Given the description of an element on the screen output the (x, y) to click on. 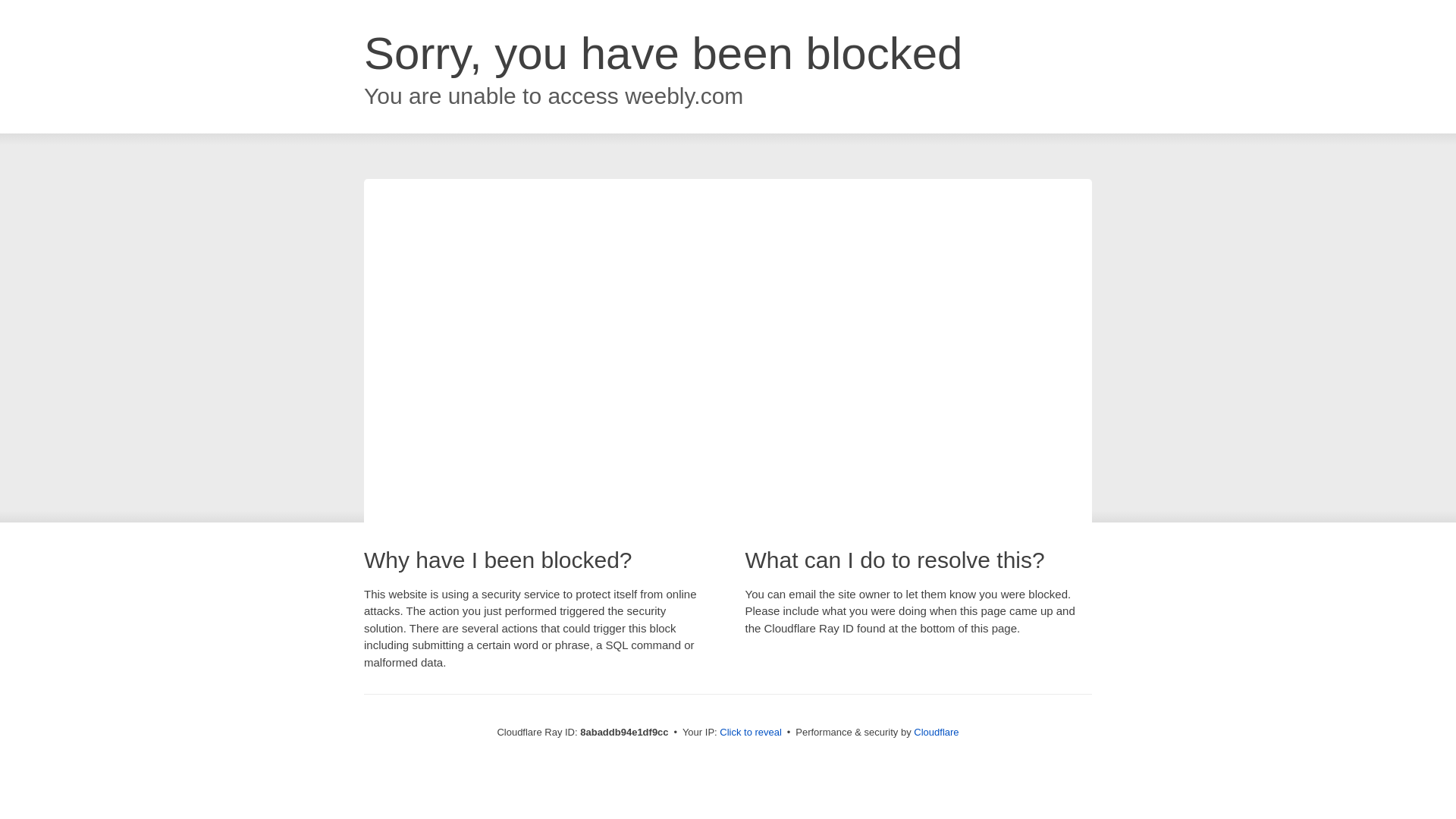
Click to reveal (750, 732)
Cloudflare (936, 731)
